Given the description of an element on the screen output the (x, y) to click on. 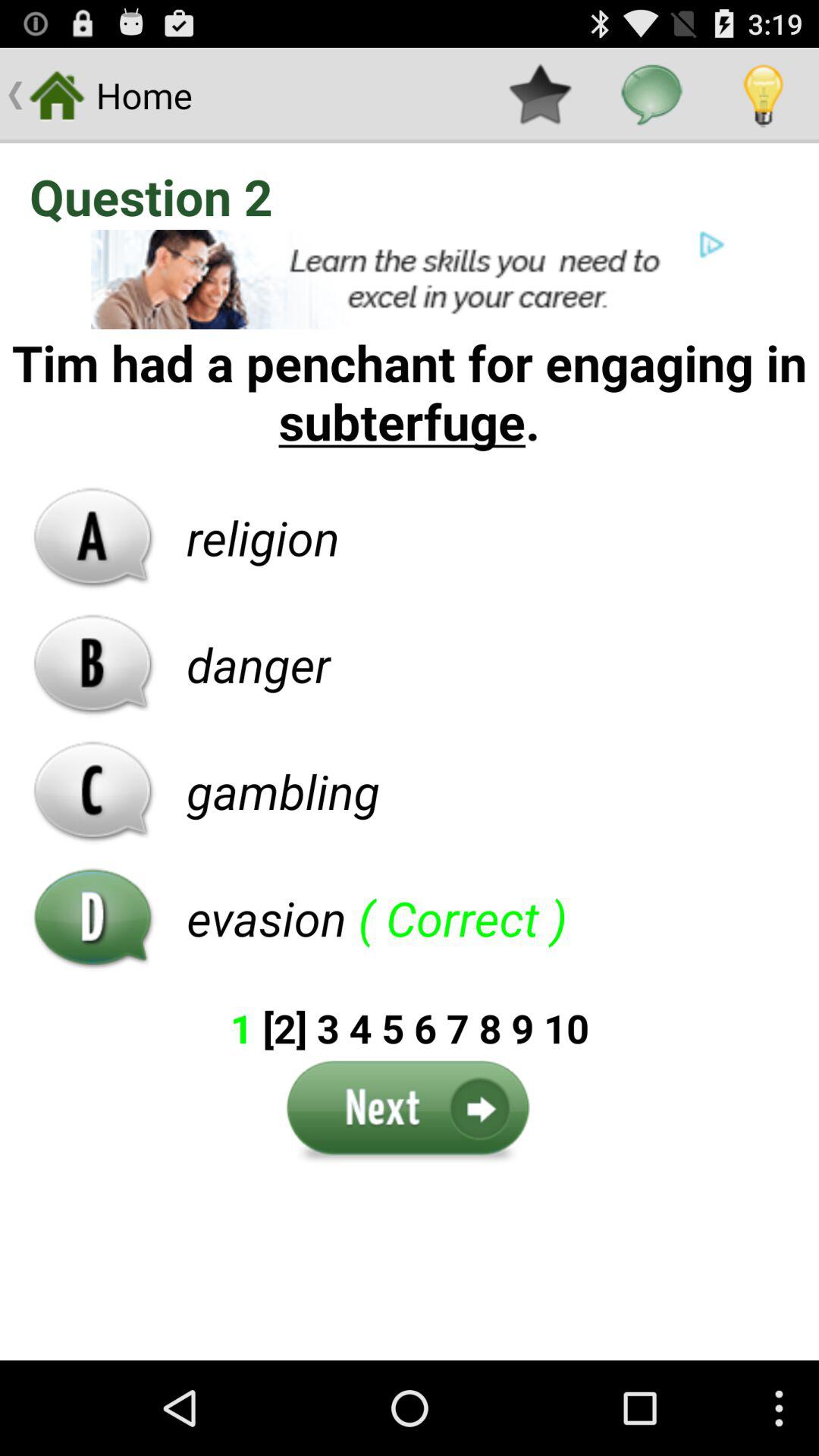
launch the app above the question 2 item (651, 95)
